Given the description of an element on the screen output the (x, y) to click on. 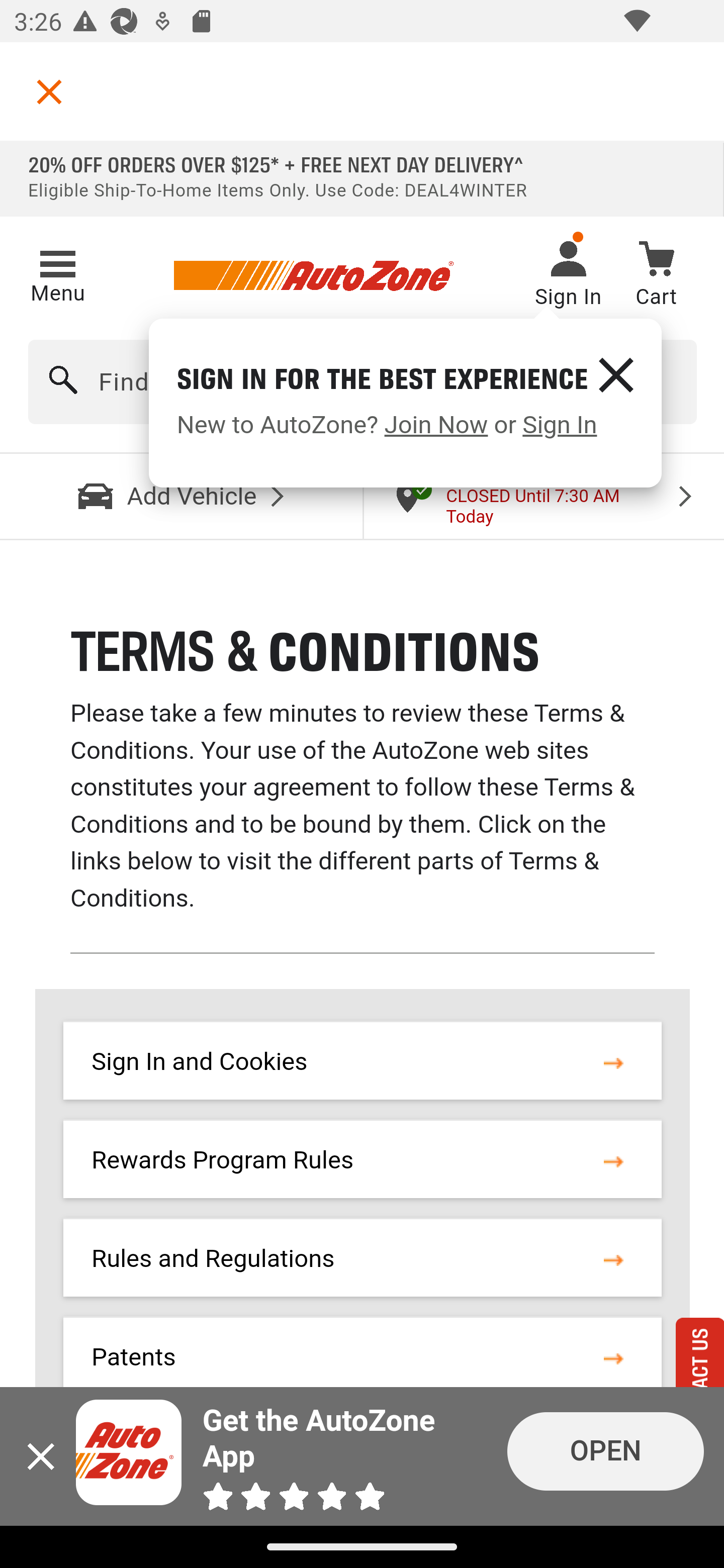
 (49, 91)
Menu (57, 273)
Sign In (567, 276)
AutoZone Logo (links to homepage) (312, 276)
shopping cart 0 items (655, 277)
Search (63, 382)
✕ (615, 373)
Join Now (436, 424)
Sign In (559, 424)
Add Vehicle (182, 495)
Add Vehicle (182, 495)
Sign In and Cookies (199, 1062)
termsAndConditions#loginAndCookies (613, 1062)
Rewards Program Rules (223, 1159)
termsAndConditions#rewardsProgramRules (613, 1159)
Rules and Regulations (213, 1258)
termsAndConditions#rulesAndRegulations (613, 1258)
Patents (134, 1357)
termsAndConditions#patent (613, 1357)
Close icon Get the AutoZone App OPEN (362, 1456)
